Given the description of an element on the screen output the (x, y) to click on. 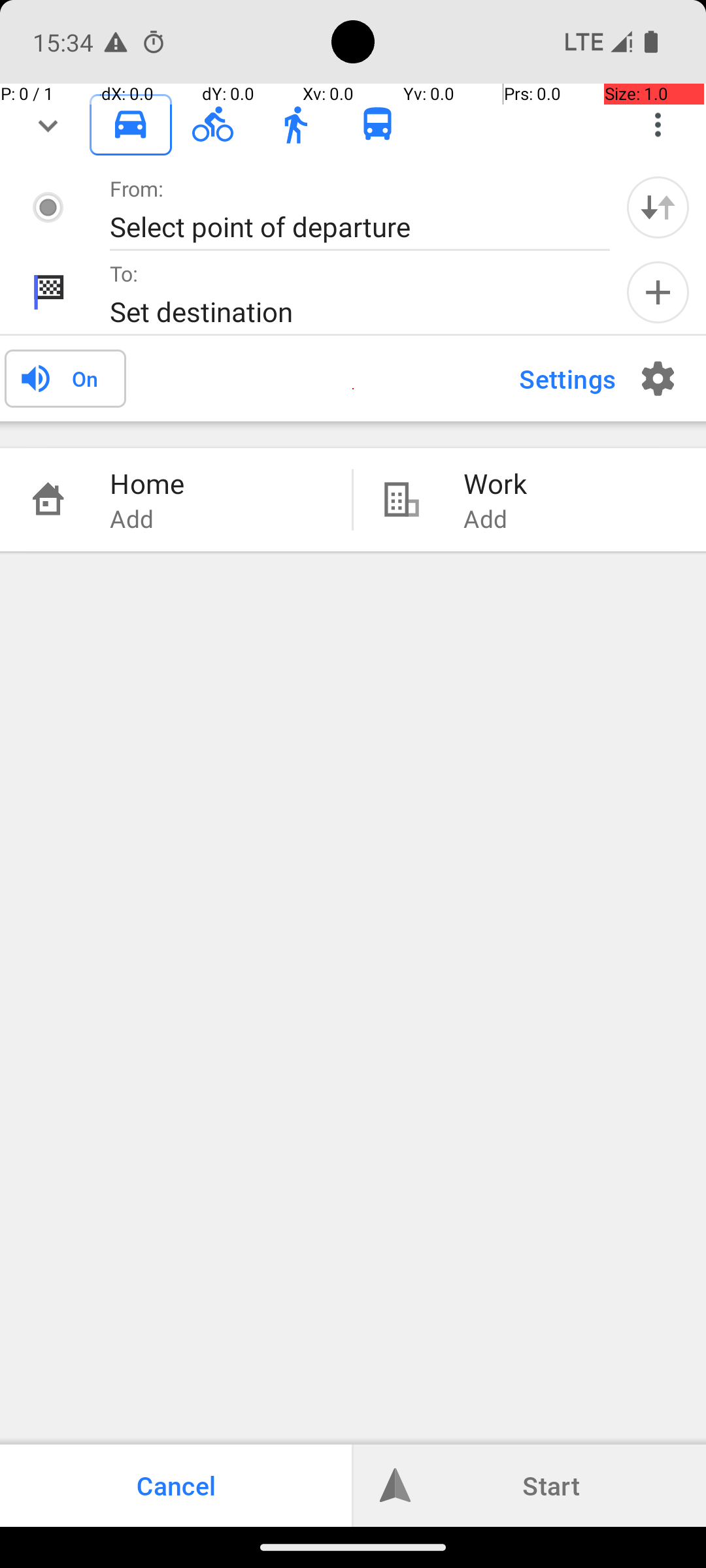
fold/unfold Element type: android.widget.ImageView (48, 124)
Choose app modes Element type: android.widget.ImageView (657, 124)
Driving Element type: android.widget.FrameLayout (130, 124)
Cycling Element type: android.widget.FrameLayout (212, 124)
Walking Element type: android.widget.FrameLayout (295, 124)
Public transport Element type: android.widget.FrameLayout (377, 124)
From: Element type: android.widget.TextView (136, 188)
Select point of departure Element type: android.widget.TextView (345, 226)
Swap Element type: android.widget.FrameLayout (657, 207)
To: Element type: android.widget.TextView (123, 273)
Set destination Element type: android.widget.TextView (345, 310)
Driving checked Element type: android.widget.ImageView (130, 124)
Cycling unchecked Element type: android.widget.ImageView (212, 124)
Walking unchecked Element type: android.widget.ImageView (294, 124)
Public transport unchecked Element type: android.widget.ImageView (377, 124)
On Element type: android.widget.TextView (84, 378)
